Given the description of an element on the screen output the (x, y) to click on. 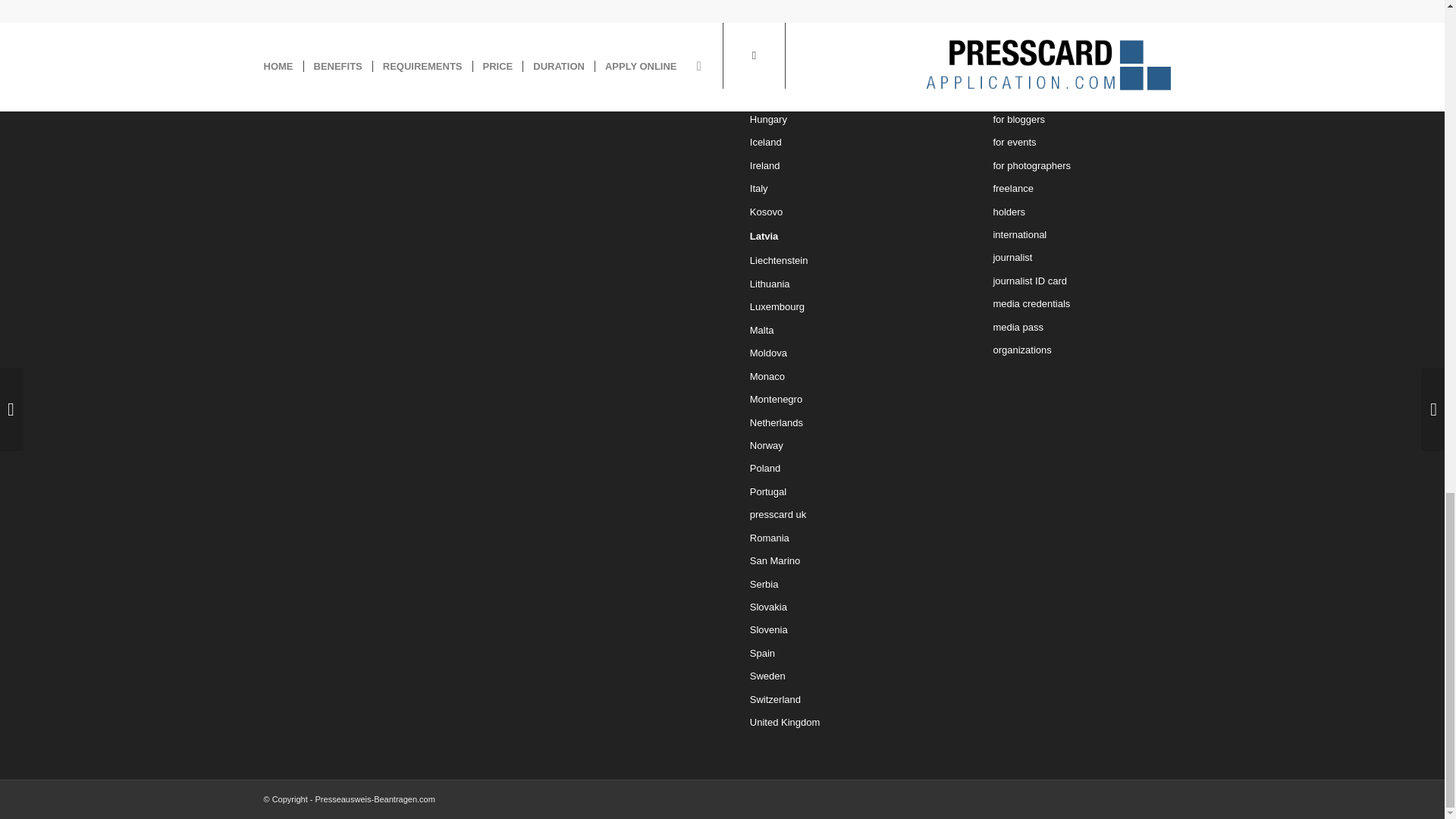
Latvia (843, 236)
Greece (843, 96)
Ireland (843, 165)
Estonia (843, 7)
Finland (843, 26)
Liechtenstein (843, 260)
Lithuania (843, 283)
France (843, 50)
Hungary (843, 119)
Kosovo (843, 211)
Germany (843, 73)
Italy (843, 188)
Iceland (843, 142)
